Given the description of an element on the screen output the (x, y) to click on. 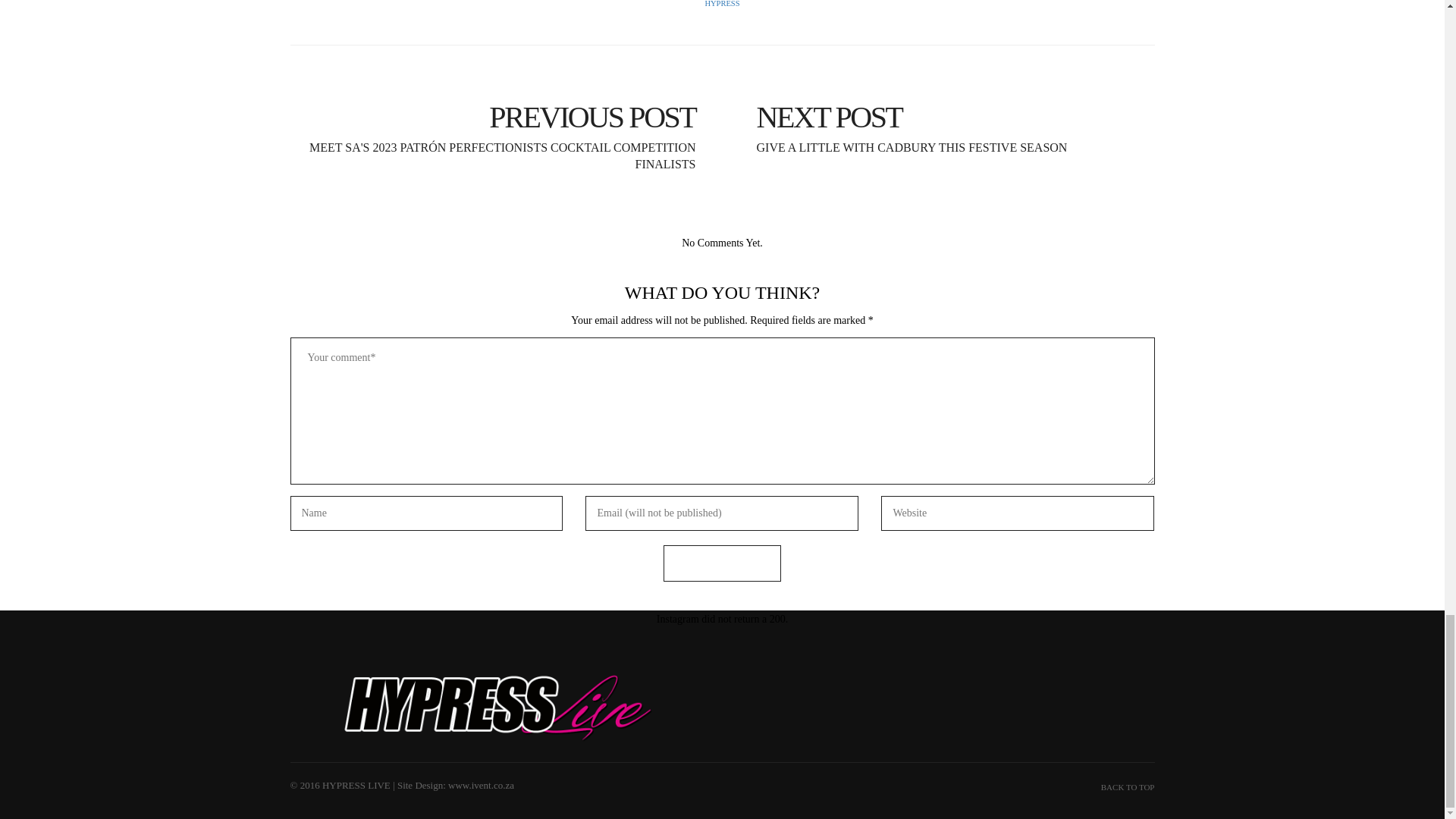
GIVE A LITTLE WITH CADBURY THIS FESTIVE SEASON (943, 115)
Post comment (721, 563)
HYPRESS (721, 3)
Lifestyle and Culture Destination (499, 706)
Posts by hypress (943, 115)
Post comment (721, 3)
BACK TO TOP (721, 563)
